Given the description of an element on the screen output the (x, y) to click on. 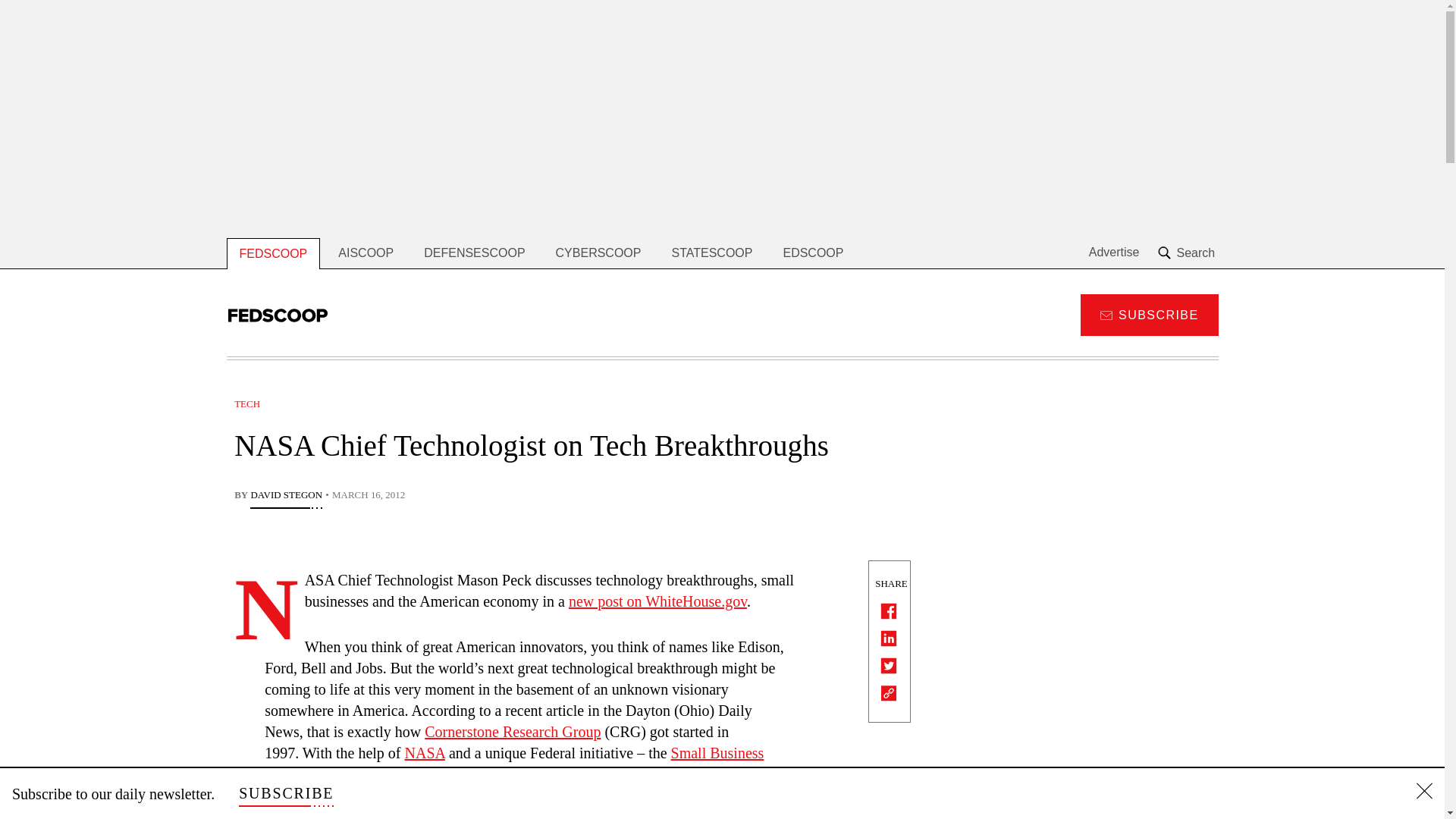
DEFENSESCOOP (474, 253)
STATESCOOP (711, 253)
CYBERSCOOP (598, 253)
FEDSCOOP (272, 253)
Search (1187, 252)
TECH (247, 403)
new post on WhiteHouse.gov (657, 600)
David Stegon (285, 496)
SUBSCRIBE (285, 793)
